Given the description of an element on the screen output the (x, y) to click on. 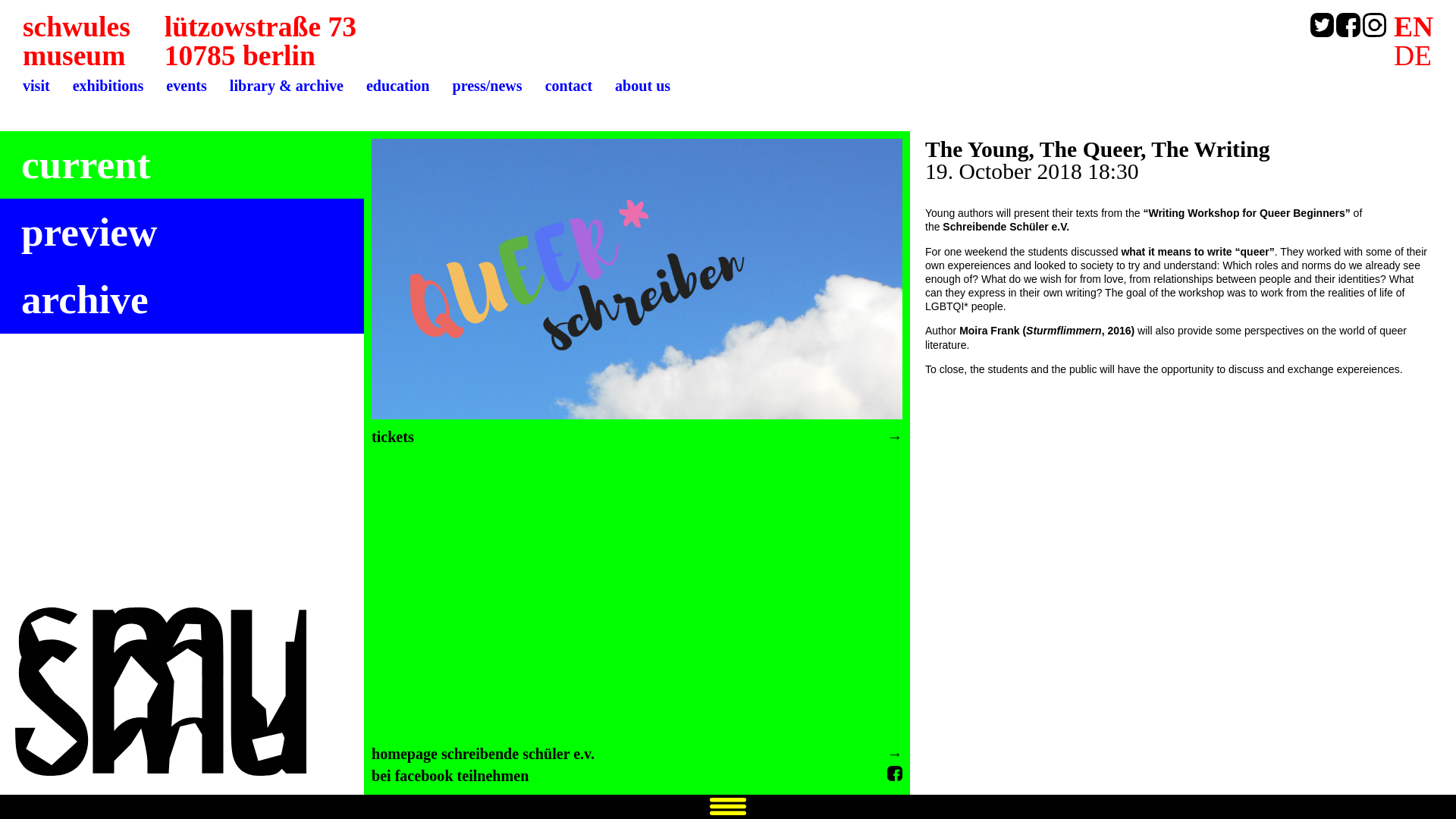
contact (568, 86)
exhibitions (108, 86)
DE (1412, 55)
visit (36, 86)
current (85, 164)
about us (77, 41)
events (641, 86)
preview (185, 86)
archive (89, 231)
